Given the description of an element on the screen output the (x, y) to click on. 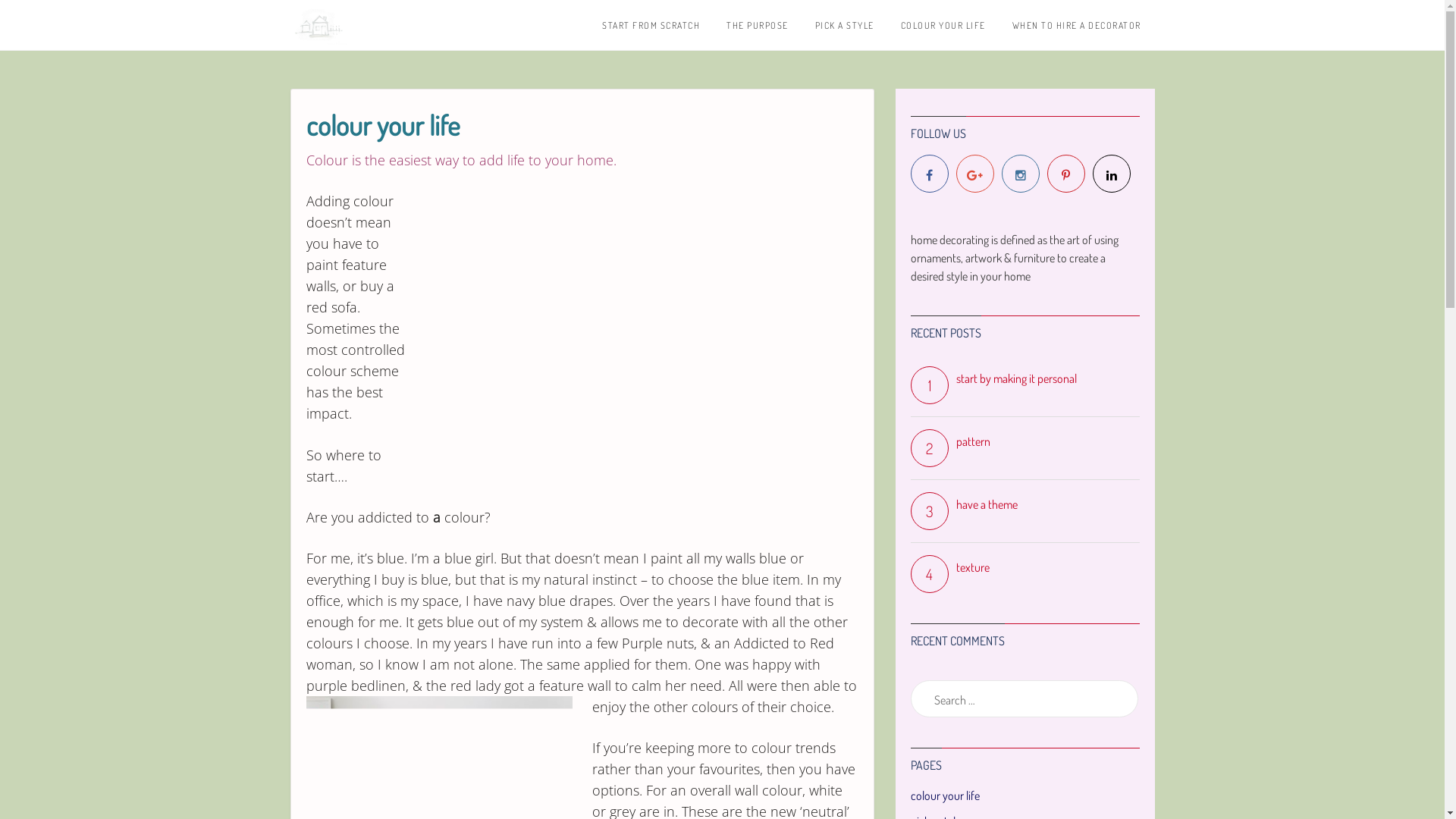
WHEN TO HIRE A DECORATOR Element type: text (1075, 25)
COLOUR YOUR LIFE Element type: text (943, 25)
have a theme Element type: text (1024, 504)
THE PURPOSE Element type: text (757, 25)
pattern Element type: text (1024, 441)
texture Element type: text (1024, 567)
PICK A STYLE Element type: text (843, 25)
Search Element type: text (31, 18)
colour your life Element type: text (944, 795)
START FROM SCRATCH Element type: text (650, 25)
start by making it personal Element type: text (1024, 378)
